Given the description of an element on the screen output the (x, y) to click on. 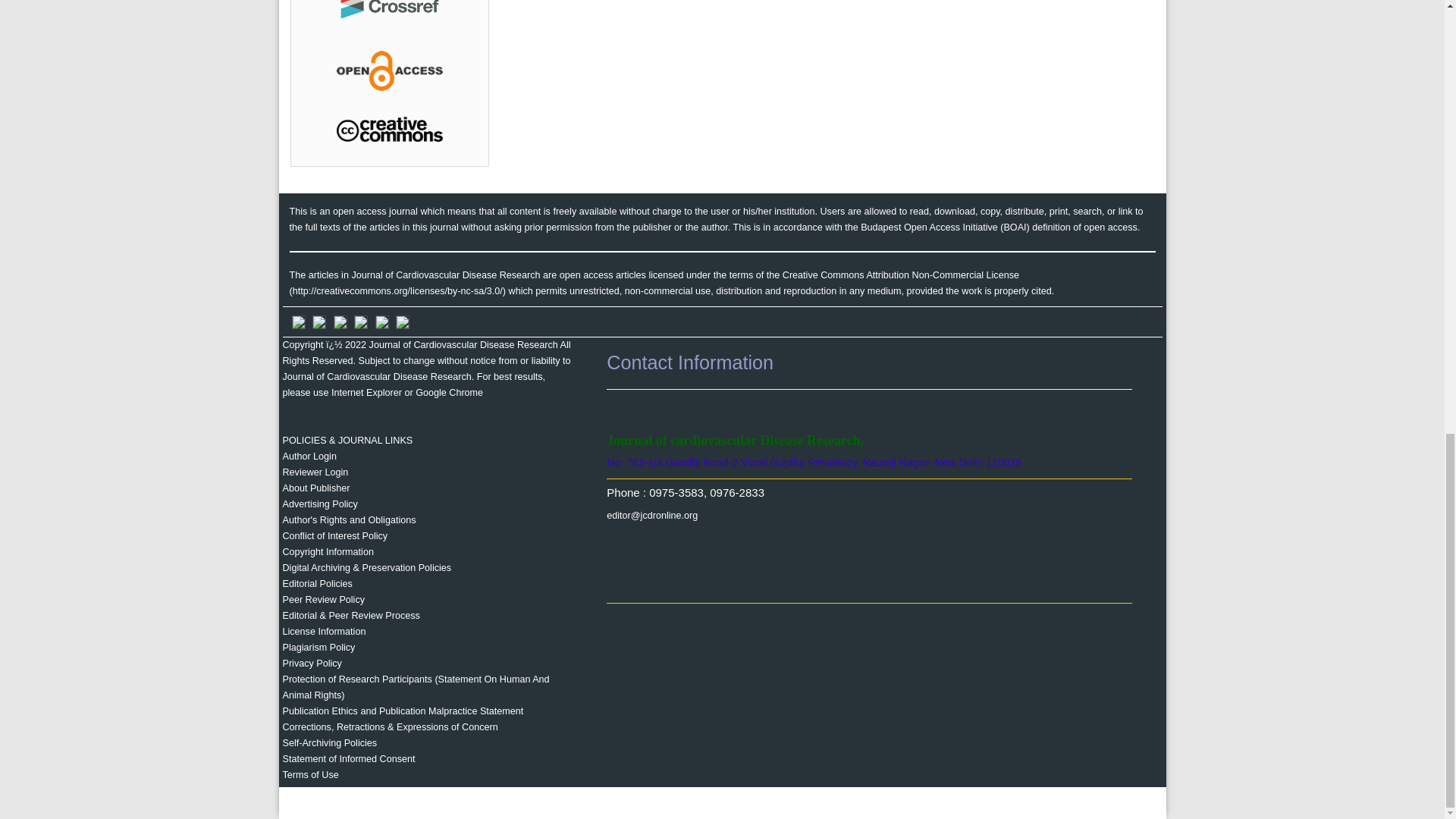
Reviewer Login (314, 471)
Author Login (309, 456)
Author's Rights and Obligations (348, 520)
Advertising Policy (319, 503)
Plagiarism Policy (318, 647)
Peer Review Policy (323, 599)
Editorial Policies (317, 583)
Conflict of Interest Policy (334, 535)
About Publisher (315, 488)
License Information (323, 631)
Copyright Information (327, 552)
